Given the description of an element on the screen output the (x, y) to click on. 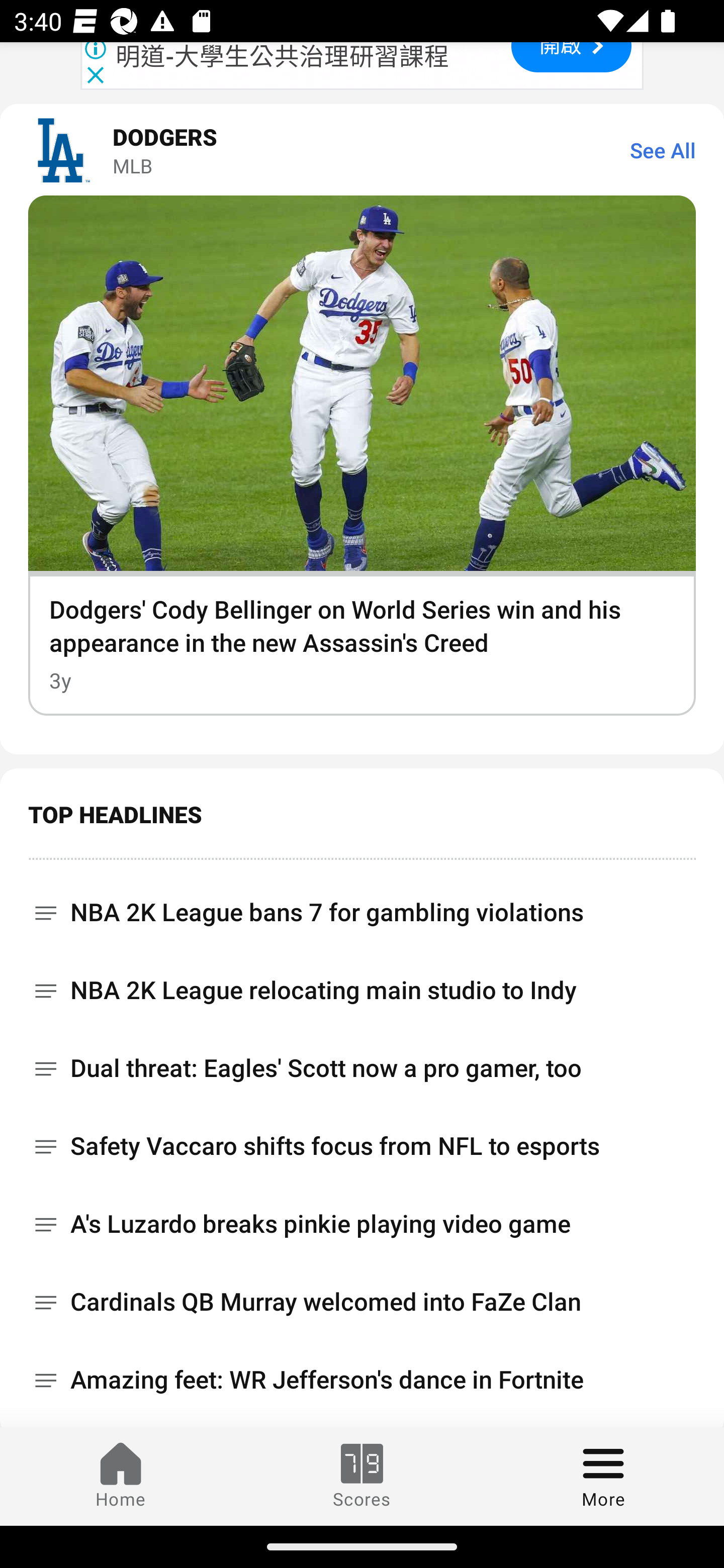
DODGERS MLB See All (362, 149)
 NBA 2K League bans 7 for gambling violations (362, 905)
 NBA 2K League relocating main studio to Indy (362, 990)
 Dual threat: Eagles' Scott now a pro gamer, too (362, 1068)
 Safety Vaccaro shifts focus from NFL to esports (362, 1146)
 A's Luzardo breaks pinkie playing video game (362, 1224)
 Cardinals QB Murray welcomed into FaZe Clan (362, 1301)
 Amazing feet: WR Jefferson's dance in Fortnite (362, 1379)
Home (120, 1475)
Scores (361, 1475)
